Given the description of an element on the screen output the (x, y) to click on. 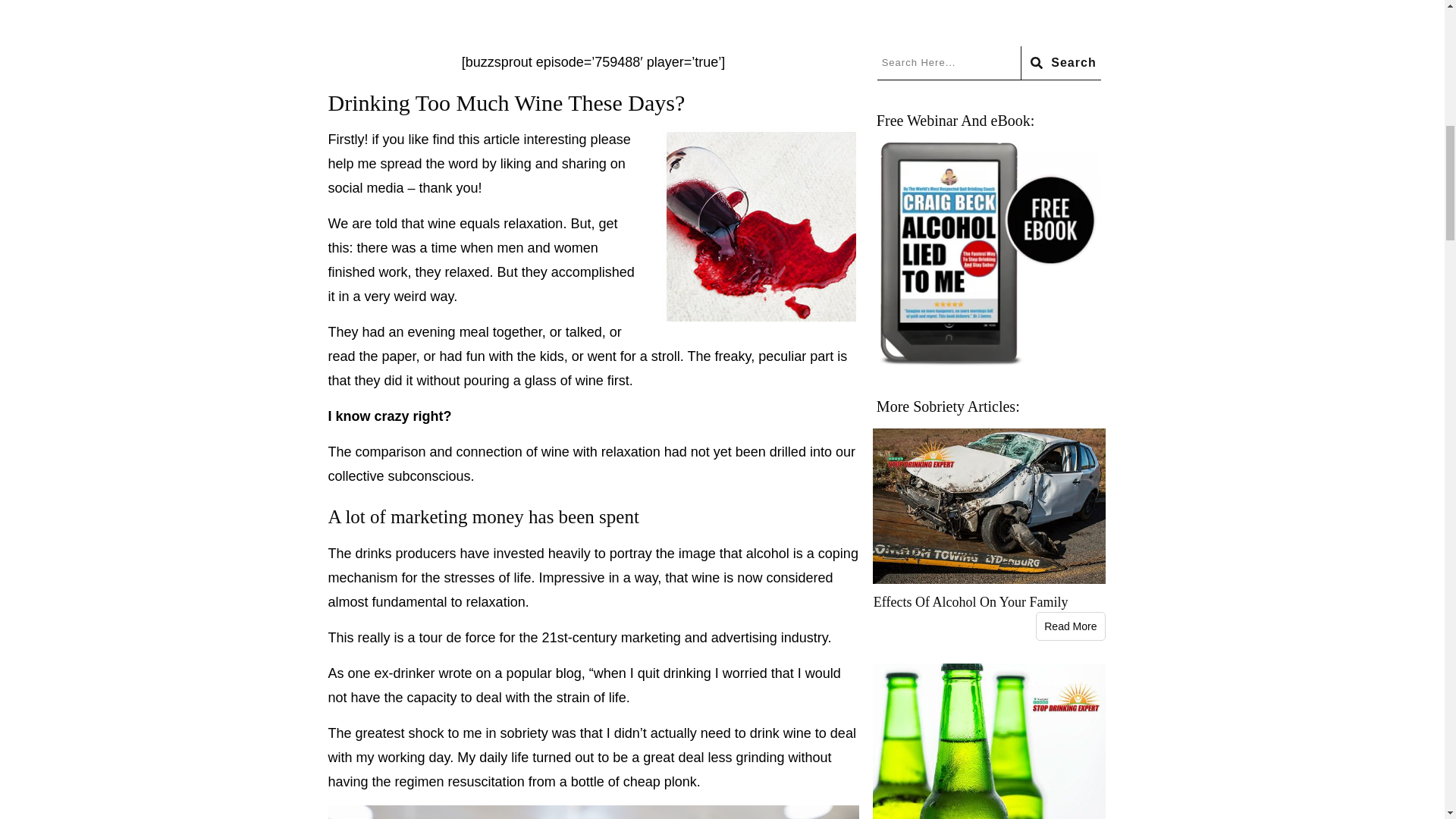
need to (722, 733)
Stop Drinking (674, 672)
How do you relax without drinking alcohol? (532, 223)
quit drinking (674, 672)
Search (1060, 62)
wine (441, 223)
relaxation (532, 223)
sobriety (524, 733)
Do You Need To Quit Drinking? How To Know When It's Time (722, 733)
